Given the description of an element on the screen output the (x, y) to click on. 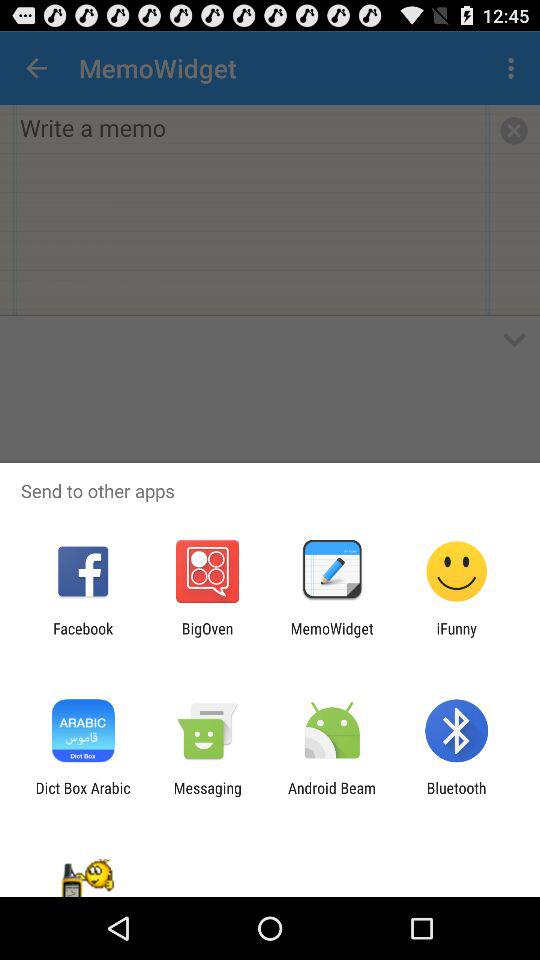
jump to the messaging (207, 796)
